Given the description of an element on the screen output the (x, y) to click on. 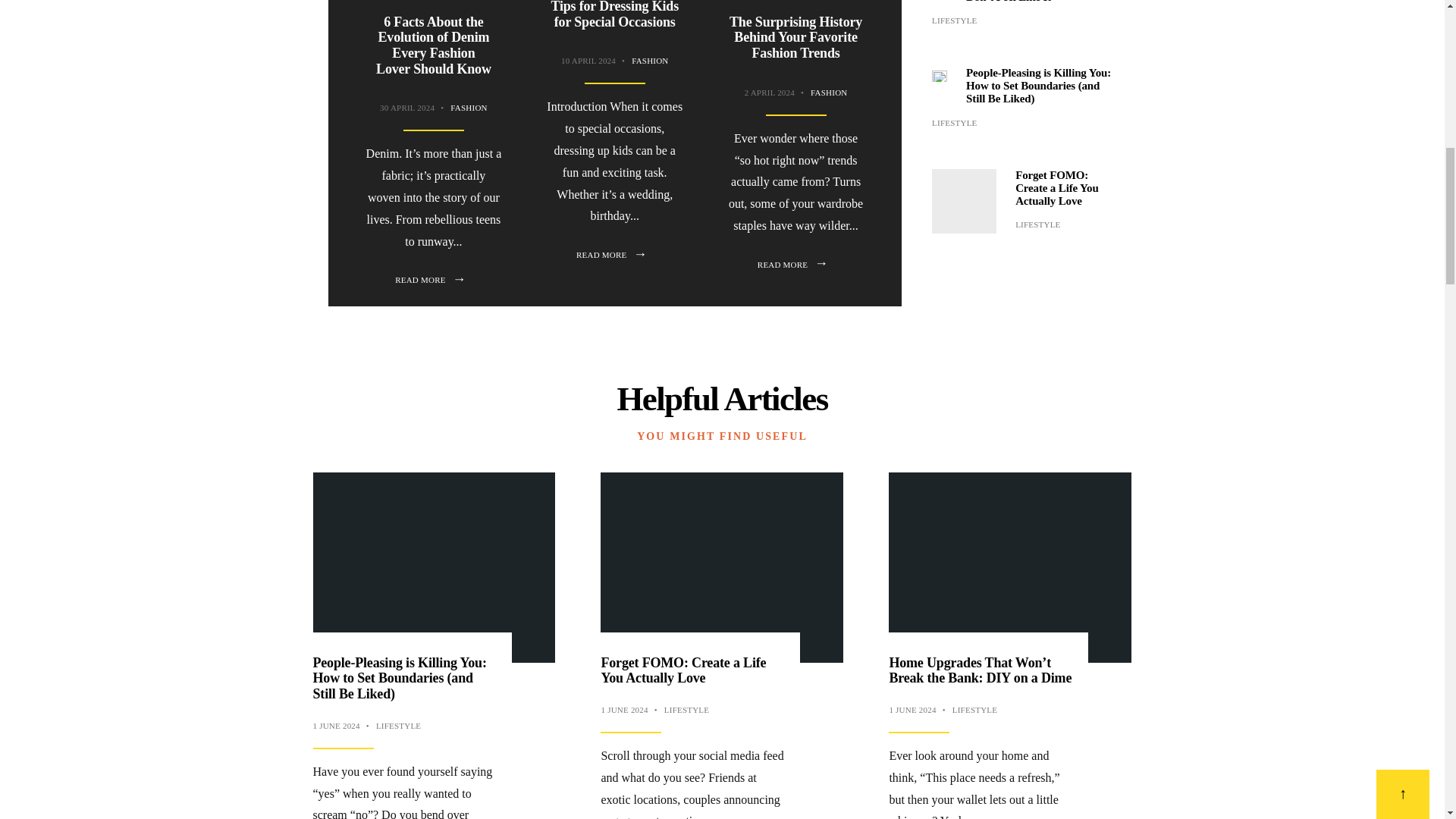
The Surprising History Behind Your Favorite Fashion Trends (795, 37)
FASHION (649, 60)
FASHION (467, 107)
Tips for Dressing Kids for Special Occasions (614, 14)
Forget FOMO: Create a Life You Actually Love (963, 200)
FASHION (828, 92)
Forget FOMO: Create a Life You Actually Love (1056, 188)
